Given the description of an element on the screen output the (x, y) to click on. 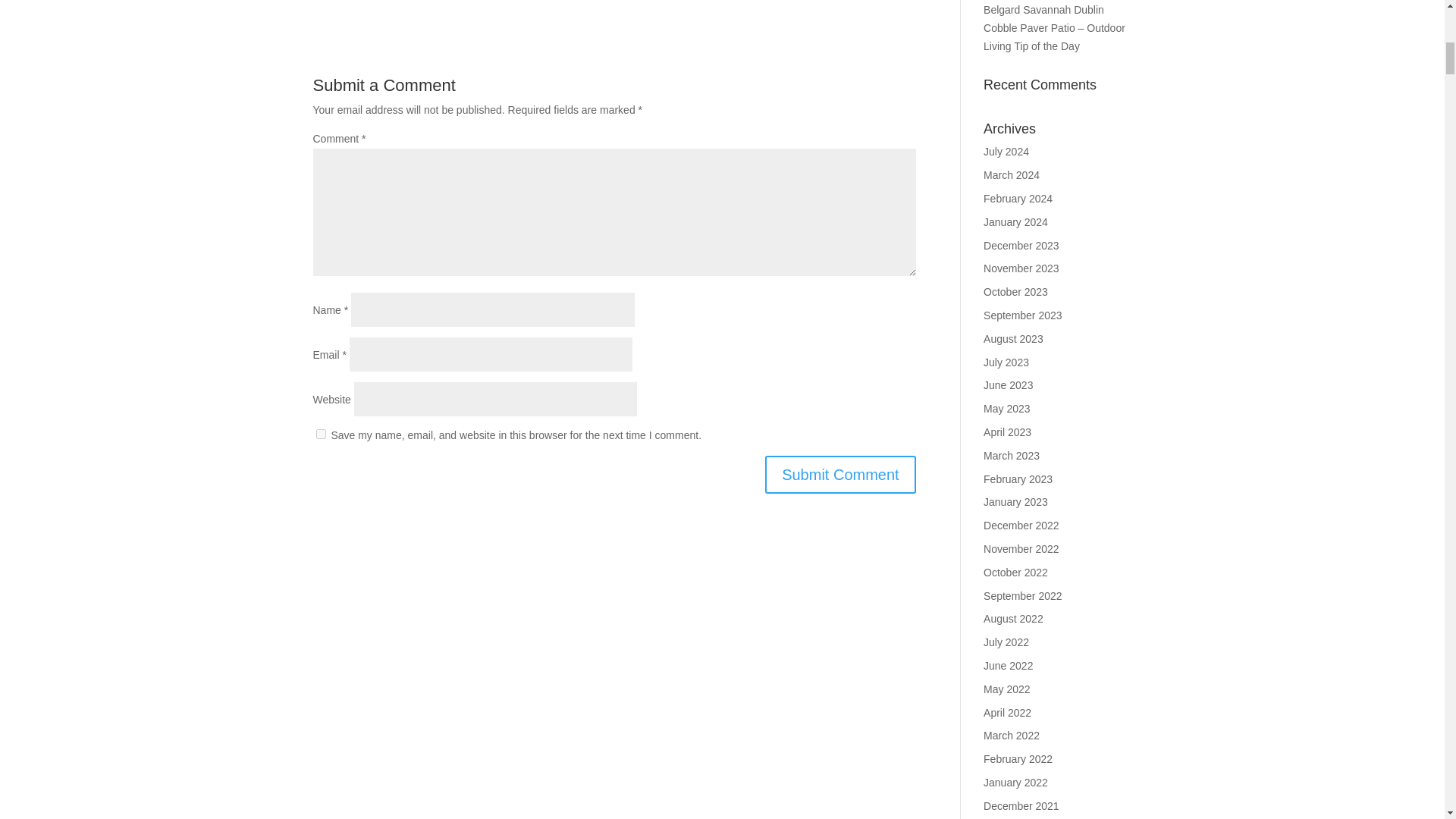
Submit Comment (840, 474)
yes (319, 433)
